Given the description of an element on the screen output the (x, y) to click on. 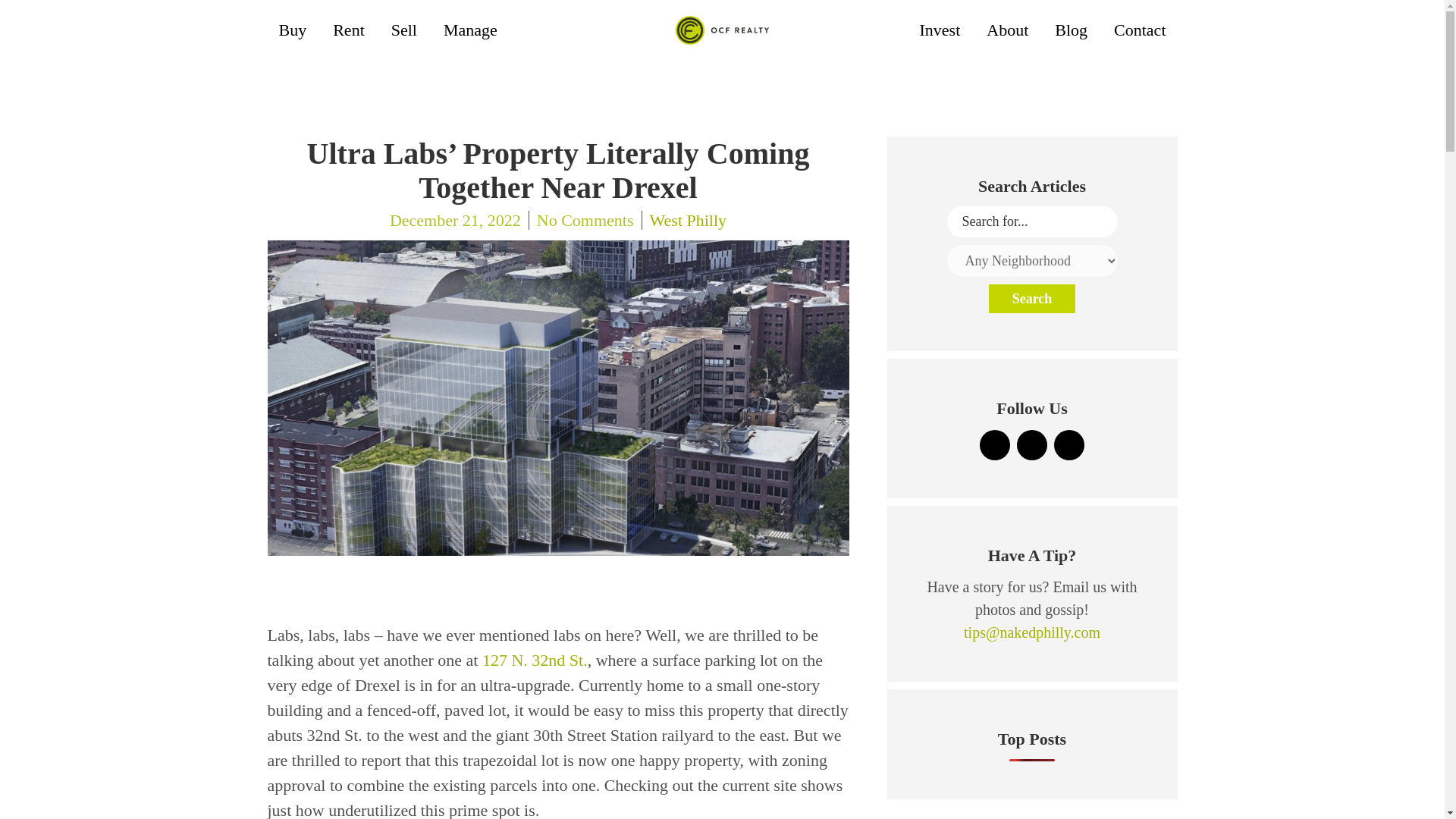
West Philly (684, 220)
Rent (348, 30)
Invest (940, 30)
Search (1031, 298)
No Comments (585, 220)
Blog (1071, 30)
About (1007, 30)
Search (1031, 298)
Contact (1139, 30)
127 N. 32nd St. (534, 659)
